Given the description of an element on the screen output the (x, y) to click on. 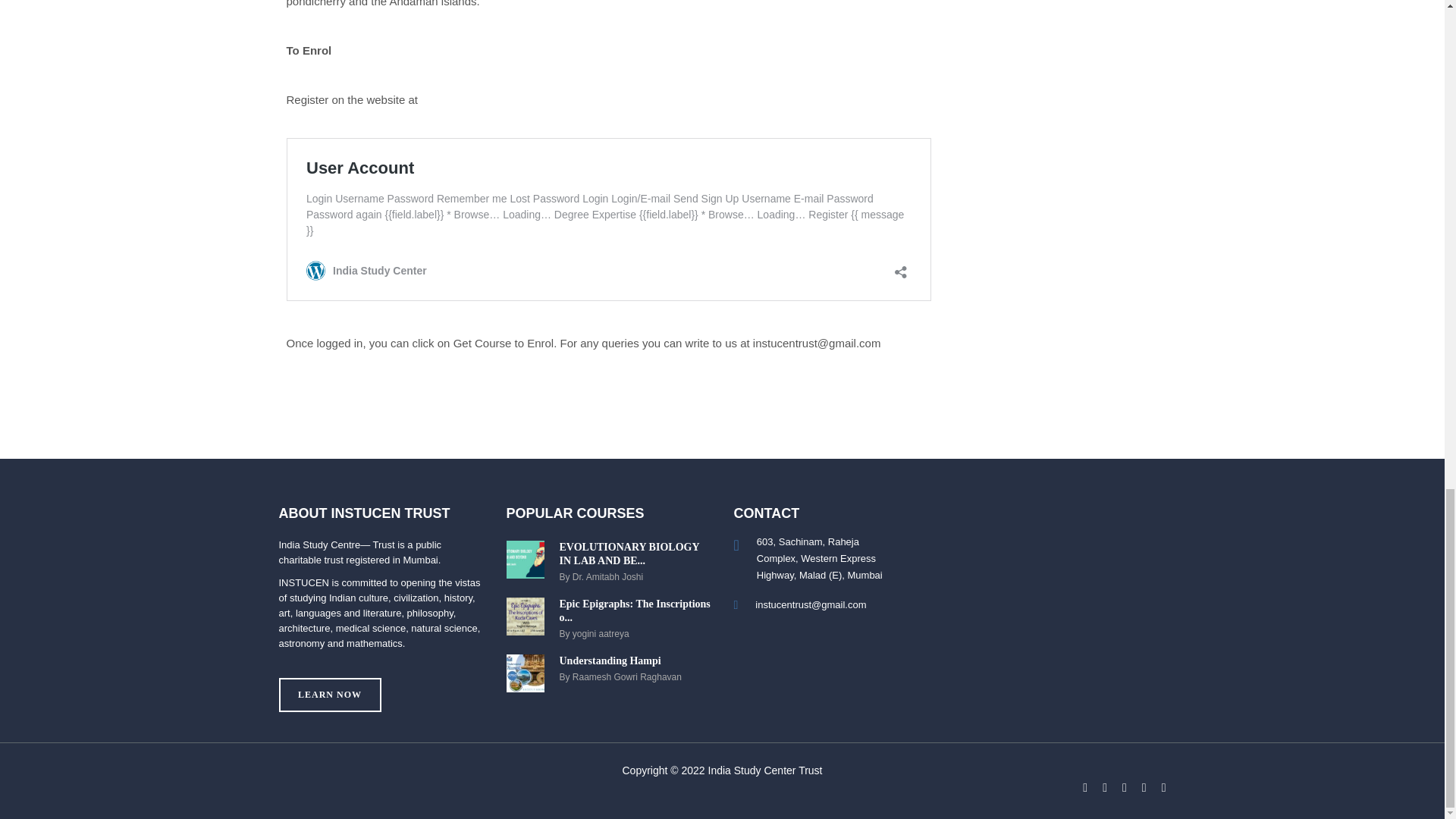
LEARN NOW (608, 561)
